Given the description of an element on the screen output the (x, y) to click on. 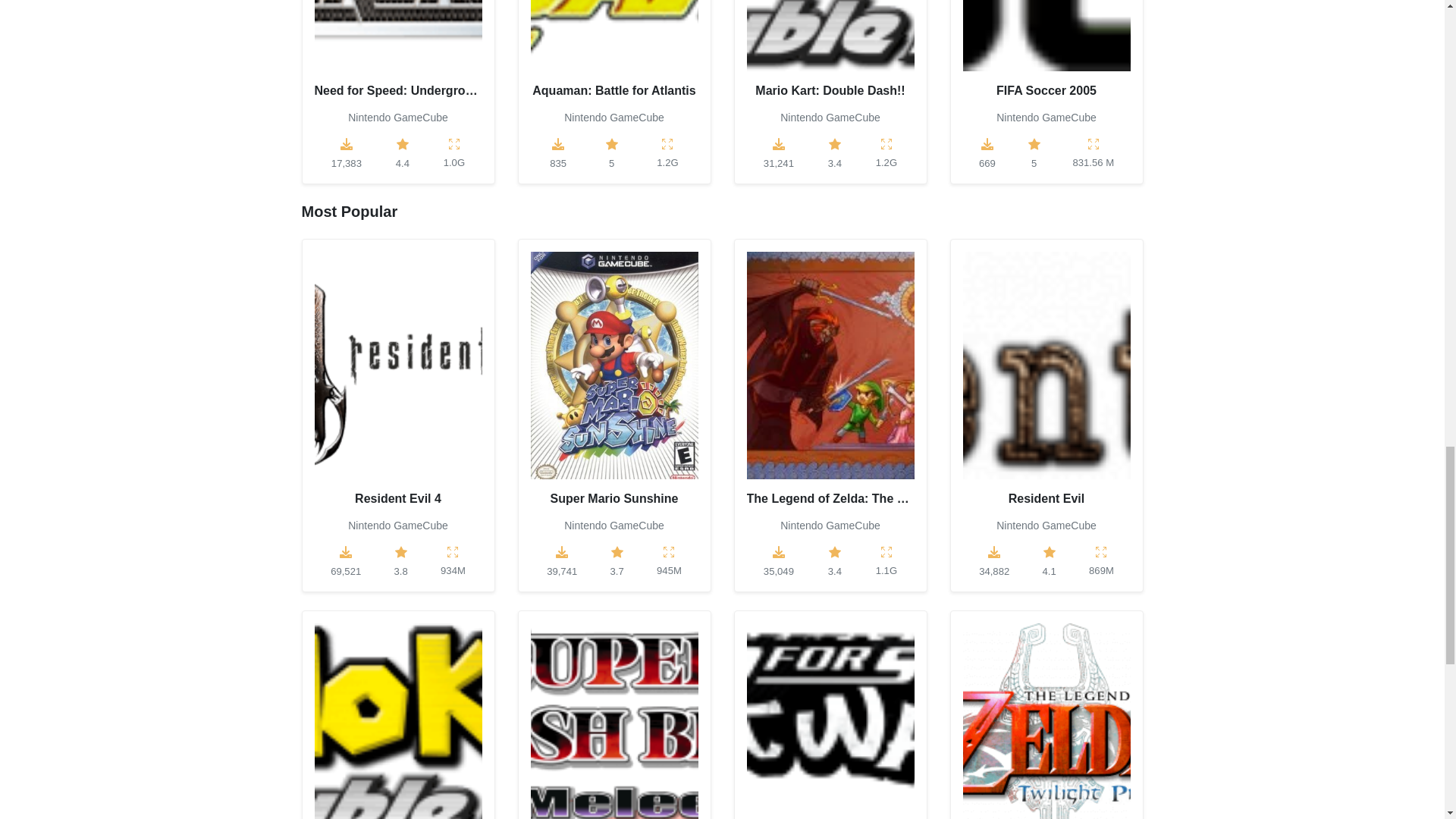
Mario Kart: Double Dash!! (829, 48)
Aquaman: Battle for Atlantis (614, 48)
Need for Speed: Underground (397, 48)
Nintendo GameCube (397, 117)
Nintendo GameCube (613, 117)
